Given the description of an element on the screen output the (x, y) to click on. 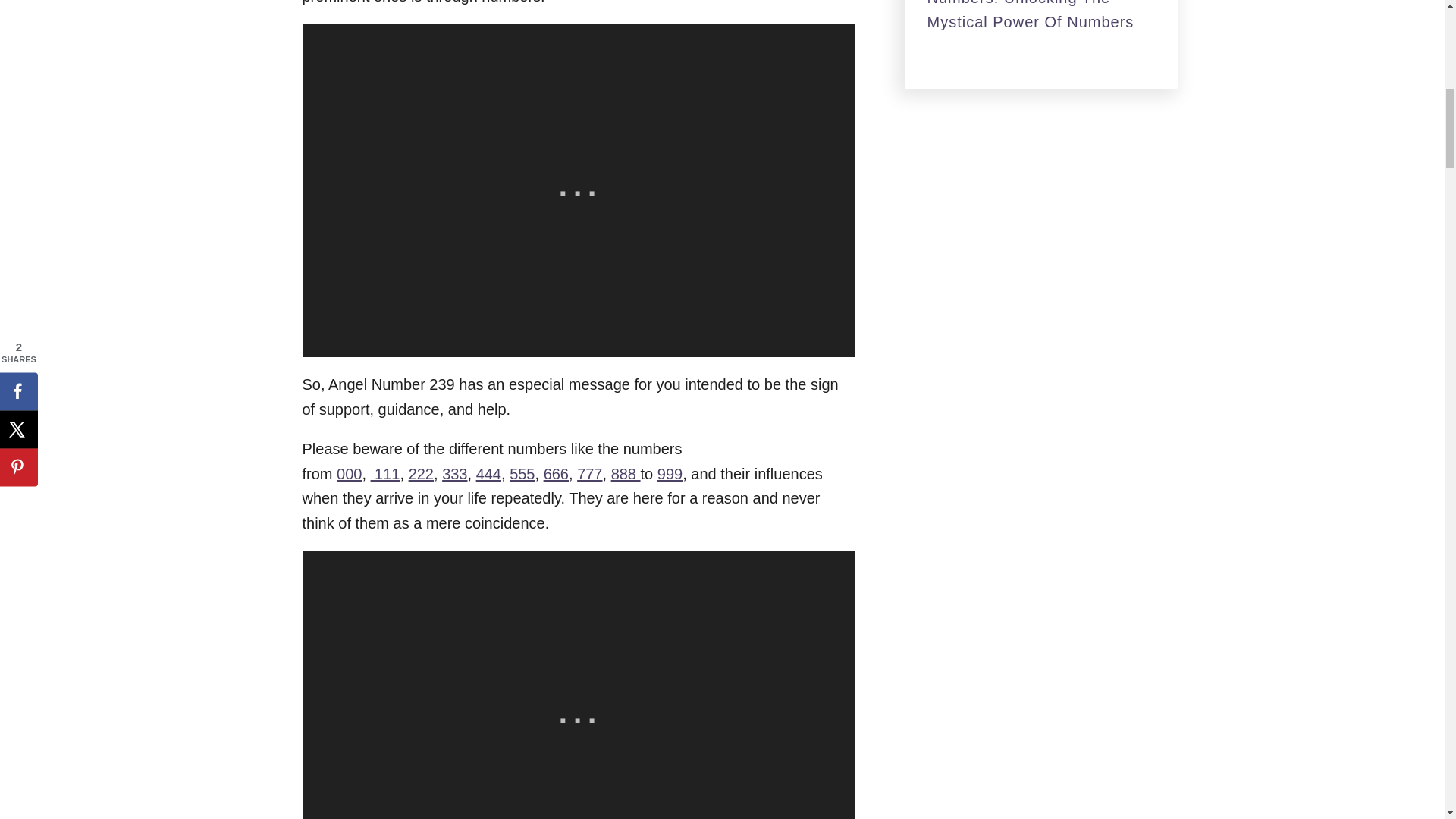
222 (421, 474)
000 (348, 474)
333 (454, 474)
666 (556, 474)
555 (521, 474)
777 (589, 474)
999 (670, 474)
888  (625, 474)
444 (488, 474)
 111 (385, 474)
